Given the description of an element on the screen output the (x, y) to click on. 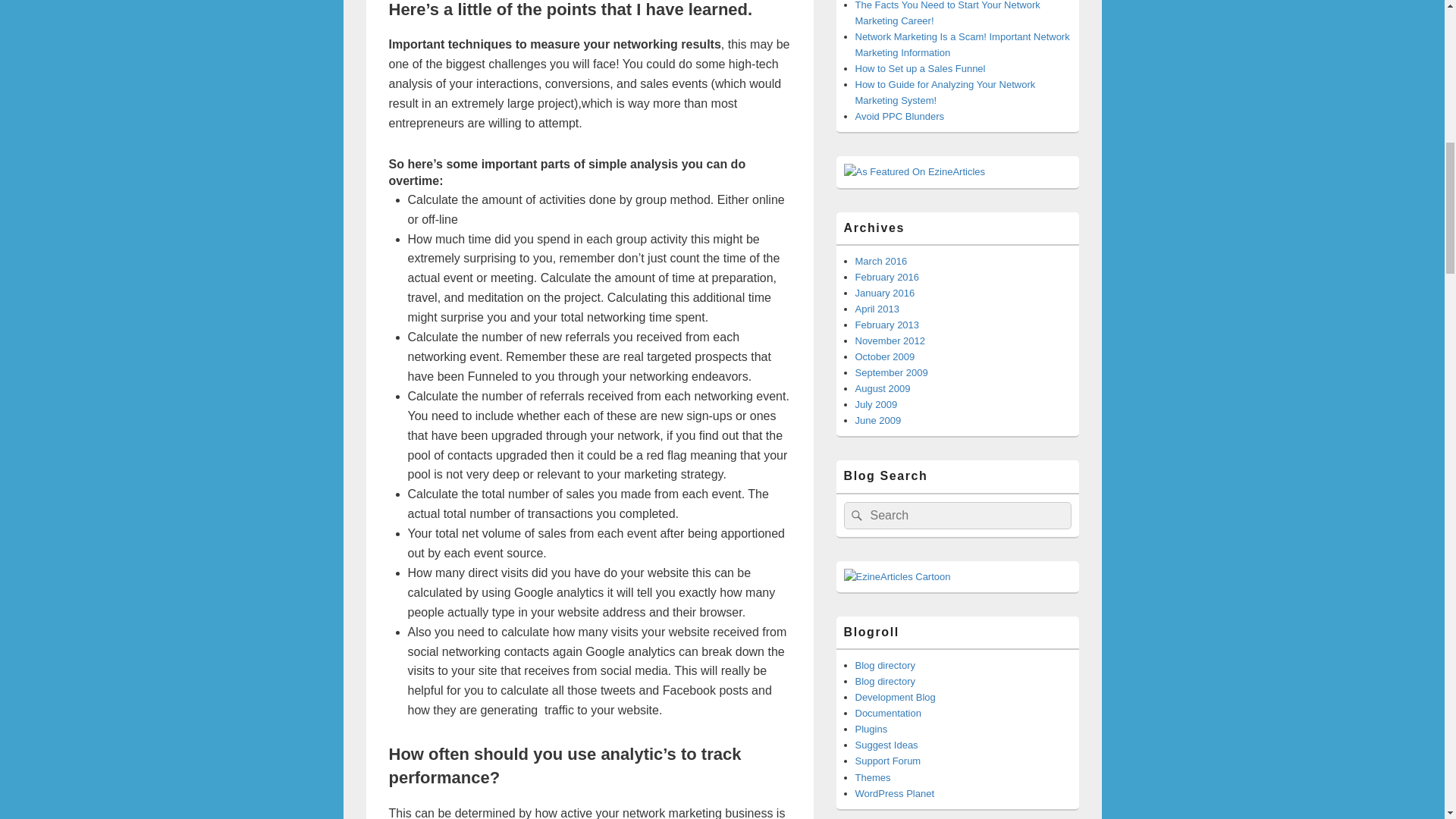
blogcatalog.com (885, 665)
blogcatalog.com (885, 681)
Search for: (956, 515)
